Given the description of an element on the screen output the (x, y) to click on. 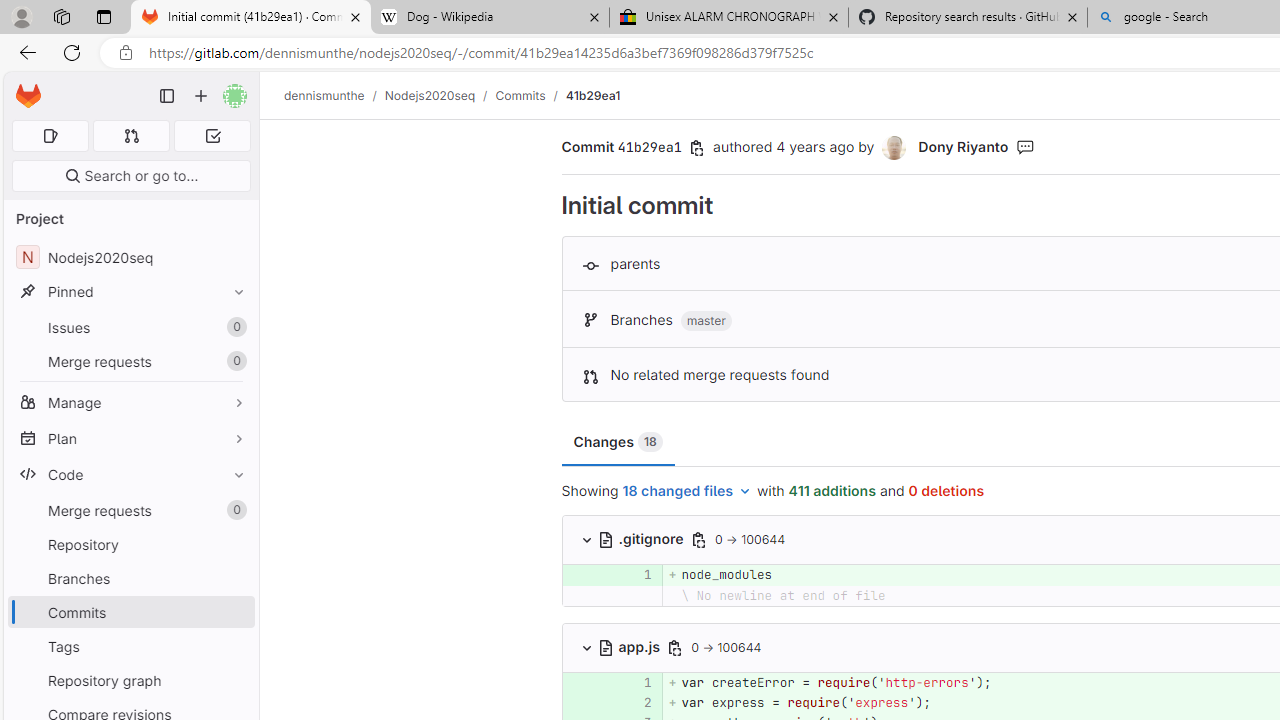
2 (633, 701)
Pin Repository (234, 544)
Repository graph (130, 679)
Repository (130, 543)
Pinned (130, 291)
1 (633, 681)
Pin Branches (234, 578)
N Nodejs2020seq (130, 257)
Copy commit SHA (697, 148)
Merge requests0 (130, 510)
Tags (130, 646)
Assigned issues 0 (50, 136)
